Given the description of an element on the screen output the (x, y) to click on. 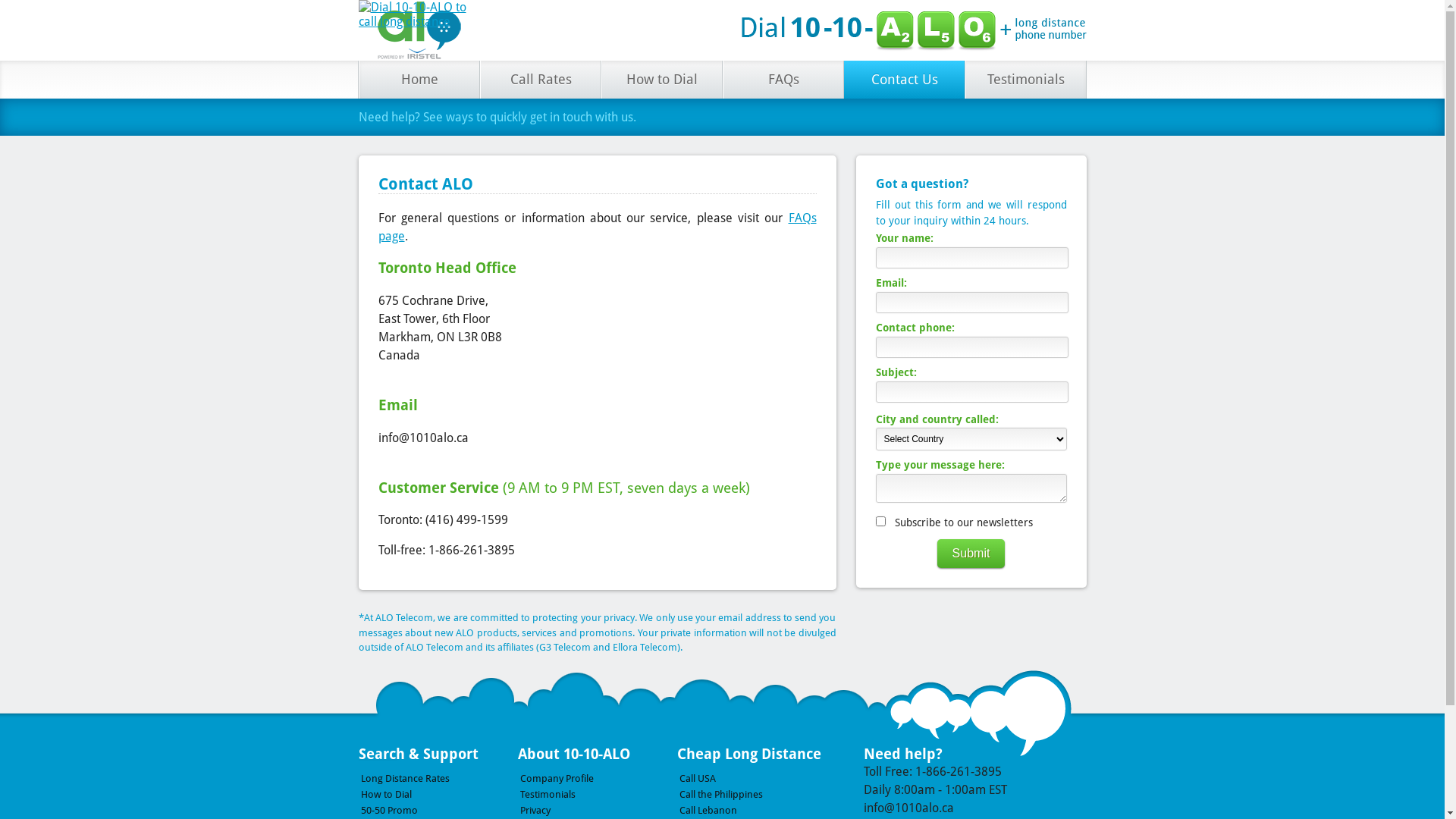
Company Profile Element type: text (596, 778)
Call Lebanon Element type: text (755, 810)
50-50 Promo Element type: text (437, 810)
FAQs page Element type: text (596, 226)
How to Dial Element type: text (437, 794)
Privacy Element type: text (596, 810)
How to Dial Element type: text (661, 79)
Call Rates Element type: text (540, 79)
Long Distance Rates Element type: text (437, 778)
Dial 10-10-ALO to call long distance Element type: hover (418, 30)
Call the Philippines Element type: text (755, 794)
1-866-261-3895 Element type: text (957, 771)
FAQs Element type: text (782, 79)
Home Element type: text (418, 79)
Testimonials Element type: text (1025, 79)
Testimonials Element type: text (596, 794)
info@1010alo.ca Element type: text (907, 807)
Contact Us Element type: text (904, 79)
Call USA Element type: text (755, 778)
Submit Element type: text (971, 553)
